Given the description of an element on the screen output the (x, y) to click on. 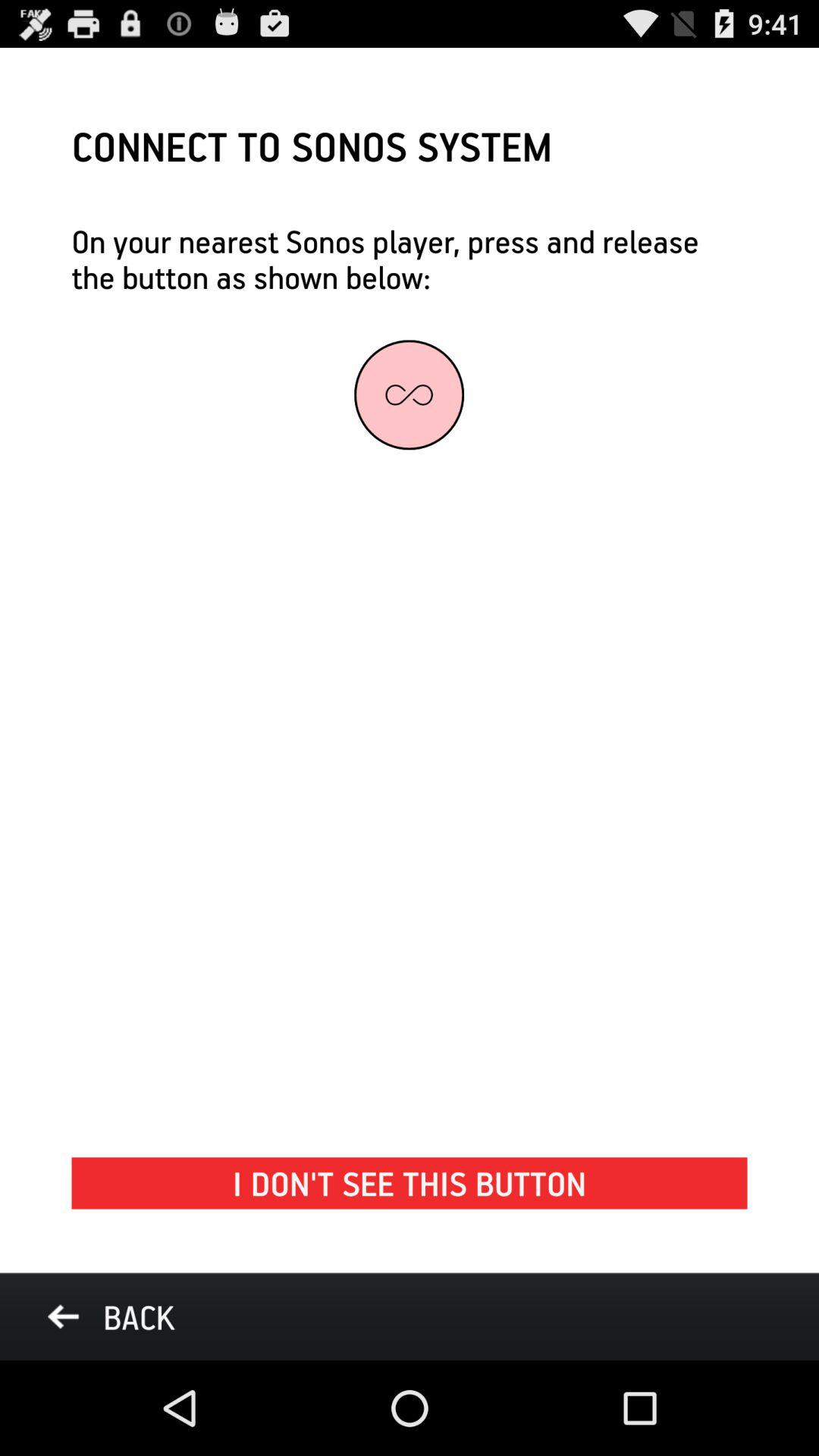
turn on i don t item (409, 1183)
